Given the description of an element on the screen output the (x, y) to click on. 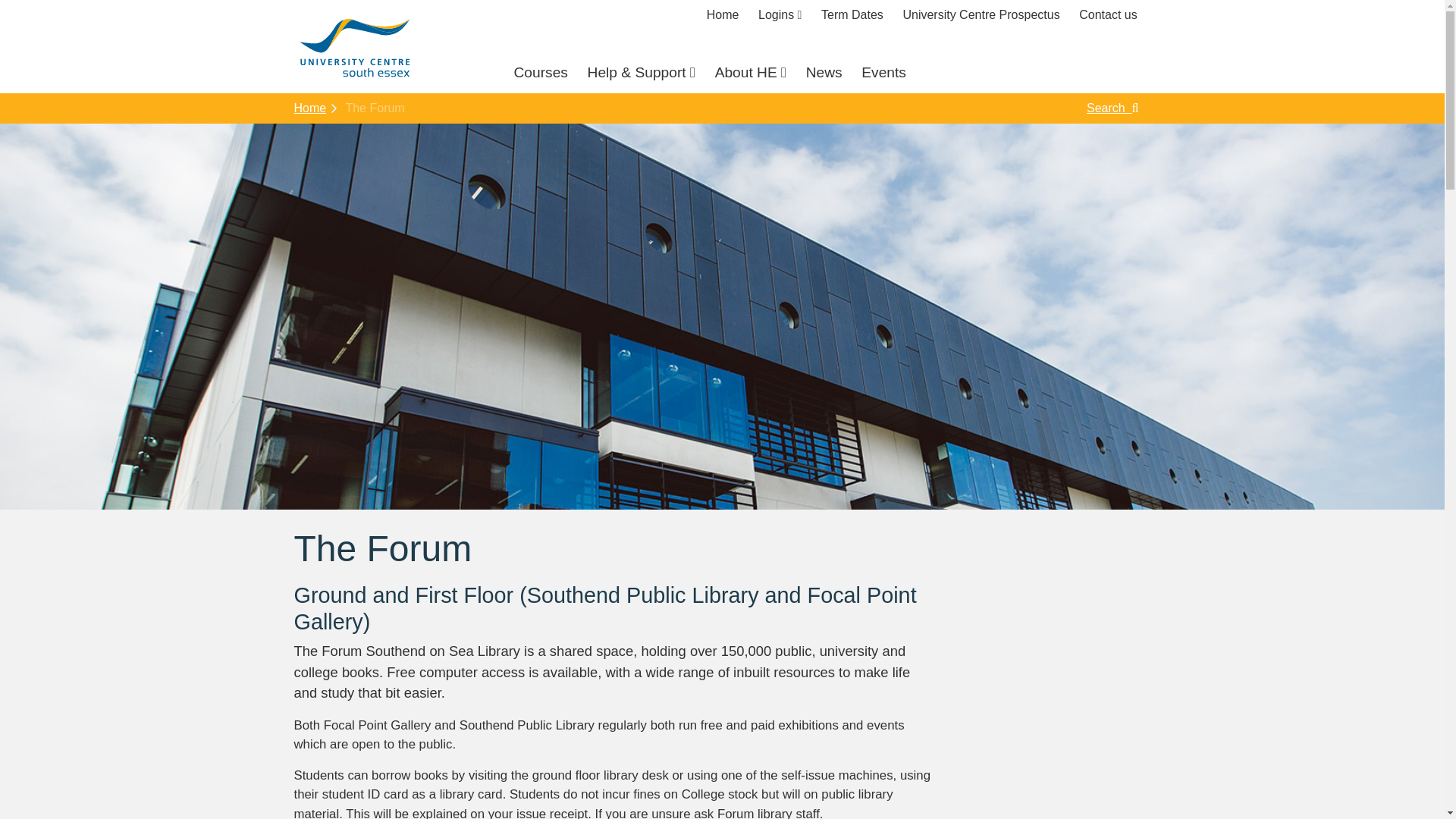
University Centre Prospectus (980, 14)
Events (883, 73)
News (824, 73)
Term Dates (852, 14)
Logins (780, 14)
About HE (750, 73)
Home (722, 14)
Contact us (1107, 14)
Courses (540, 73)
